Given the description of an element on the screen output the (x, y) to click on. 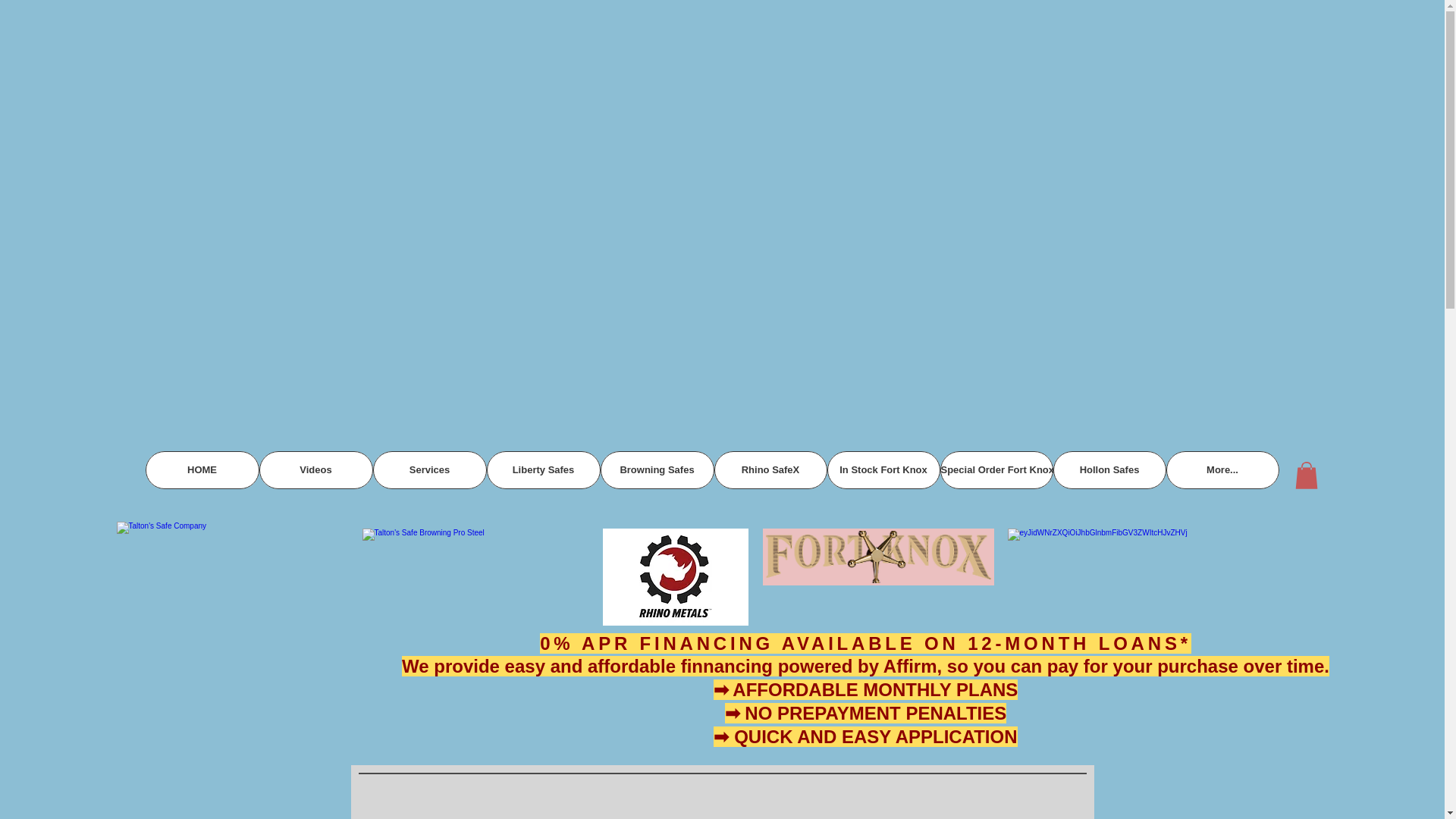
Liberty Safes (542, 469)
Videos (315, 469)
Browning Safes (656, 469)
HOME (202, 469)
Services (429, 469)
